Given the description of an element on the screen output the (x, y) to click on. 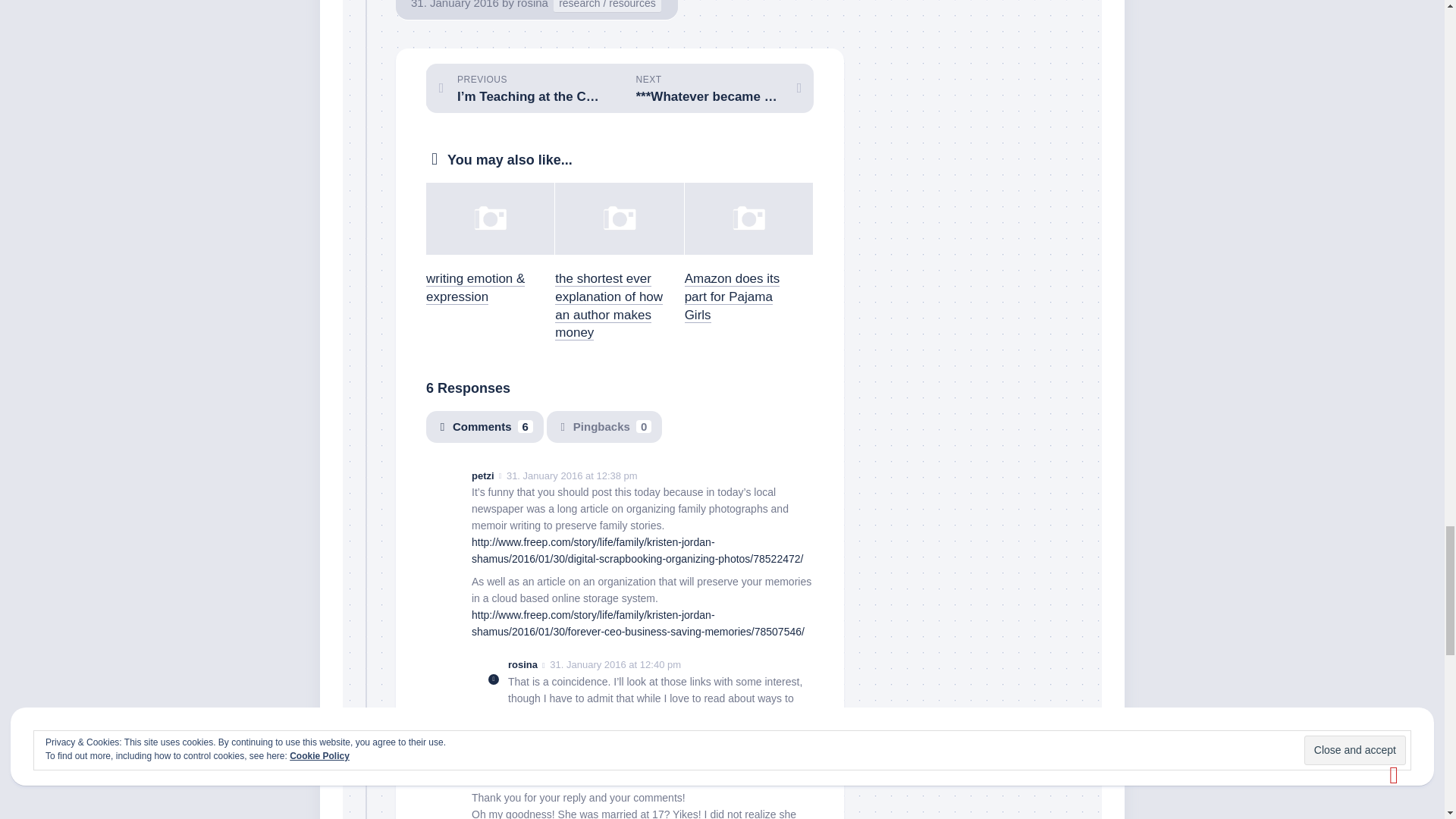
the shortest ever explanation of how an author makes money (608, 305)
31. January 2016 at 1:28 pm (623, 764)
Pingbacks0 (604, 427)
rosina (532, 4)
31. January 2016 at 12:38 pm (571, 475)
Amazon does its part for Pajama Girls (732, 296)
31. January 2016 at 12:40 pm (615, 664)
Posts by rosina (532, 4)
Comments6 (484, 427)
rosina (522, 664)
